Given the description of an element on the screen output the (x, y) to click on. 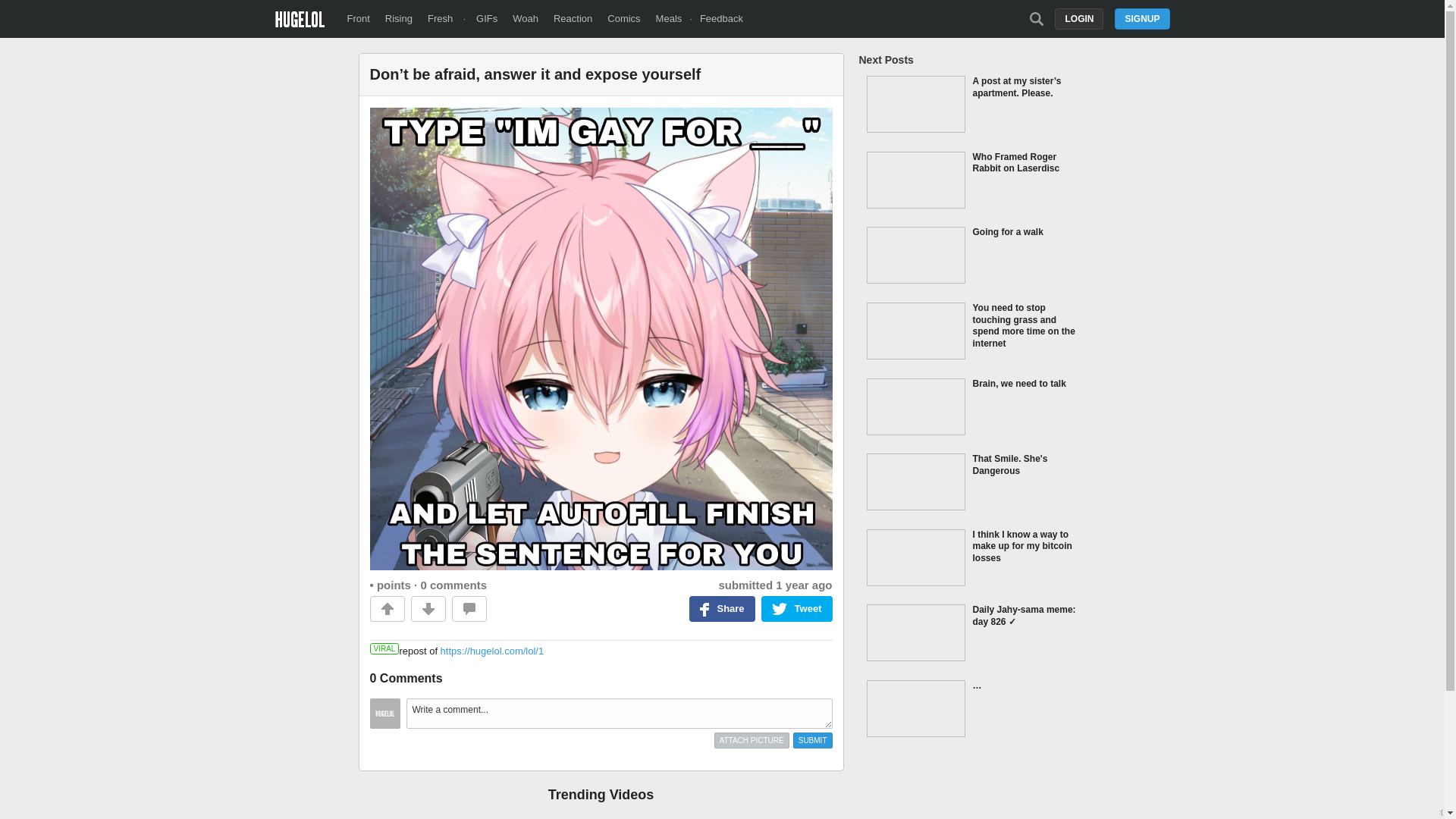
Who Framed Roger Rabbit on Laserdisc (972, 182)
Woah (525, 18)
GIFs (486, 18)
Feedback (721, 18)
2022-12-09T01:15:05-05:00 (803, 584)
Going for a walk (972, 256)
Fresh (440, 18)
Comics (623, 18)
Front (358, 18)
Reaction (572, 18)
0 comments (453, 584)
Brain, we need to talk (972, 408)
That Smile. She's Dangerous (972, 483)
